Given the description of an element on the screen output the (x, y) to click on. 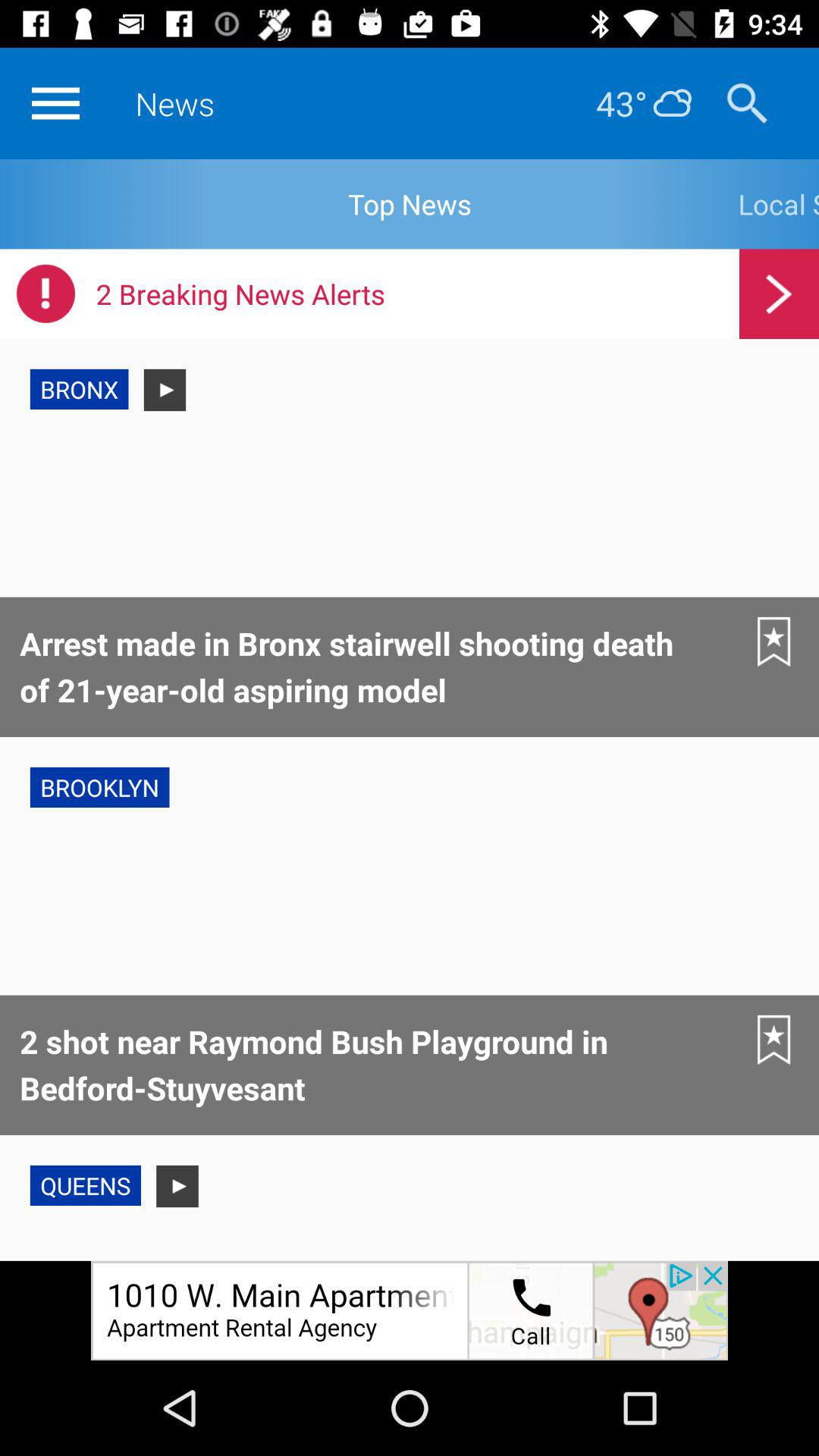
click on next page icon (779, 293)
move to the icon above brooklyn (774, 641)
click the first play button on the web page (164, 389)
